Given the description of an element on the screen output the (x, y) to click on. 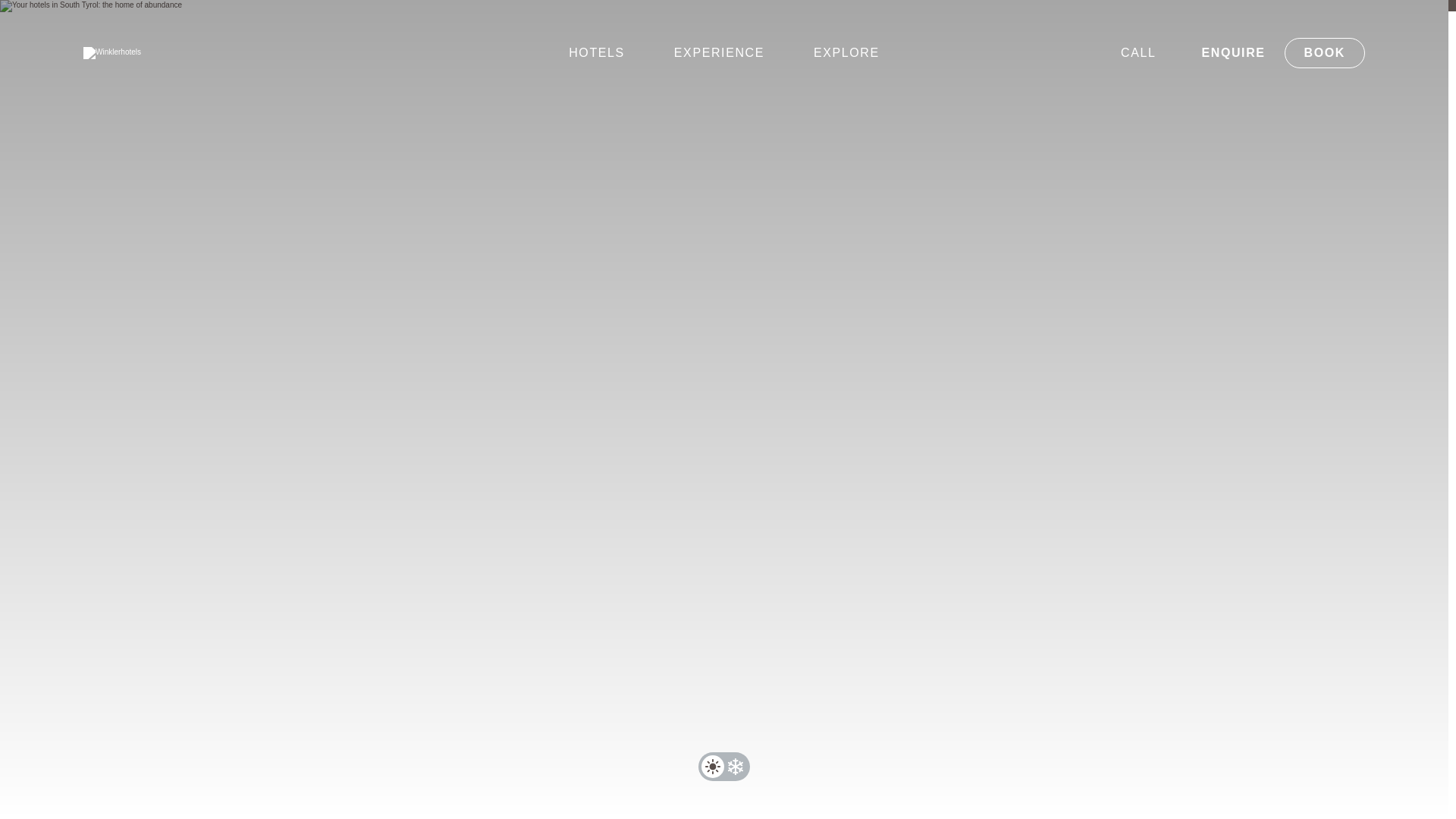
BOOK (1324, 52)
EXPLORE (846, 53)
EXPERIENCE (719, 53)
HOTELS (596, 53)
ENQUIRE (1233, 53)
